Given the description of an element on the screen output the (x, y) to click on. 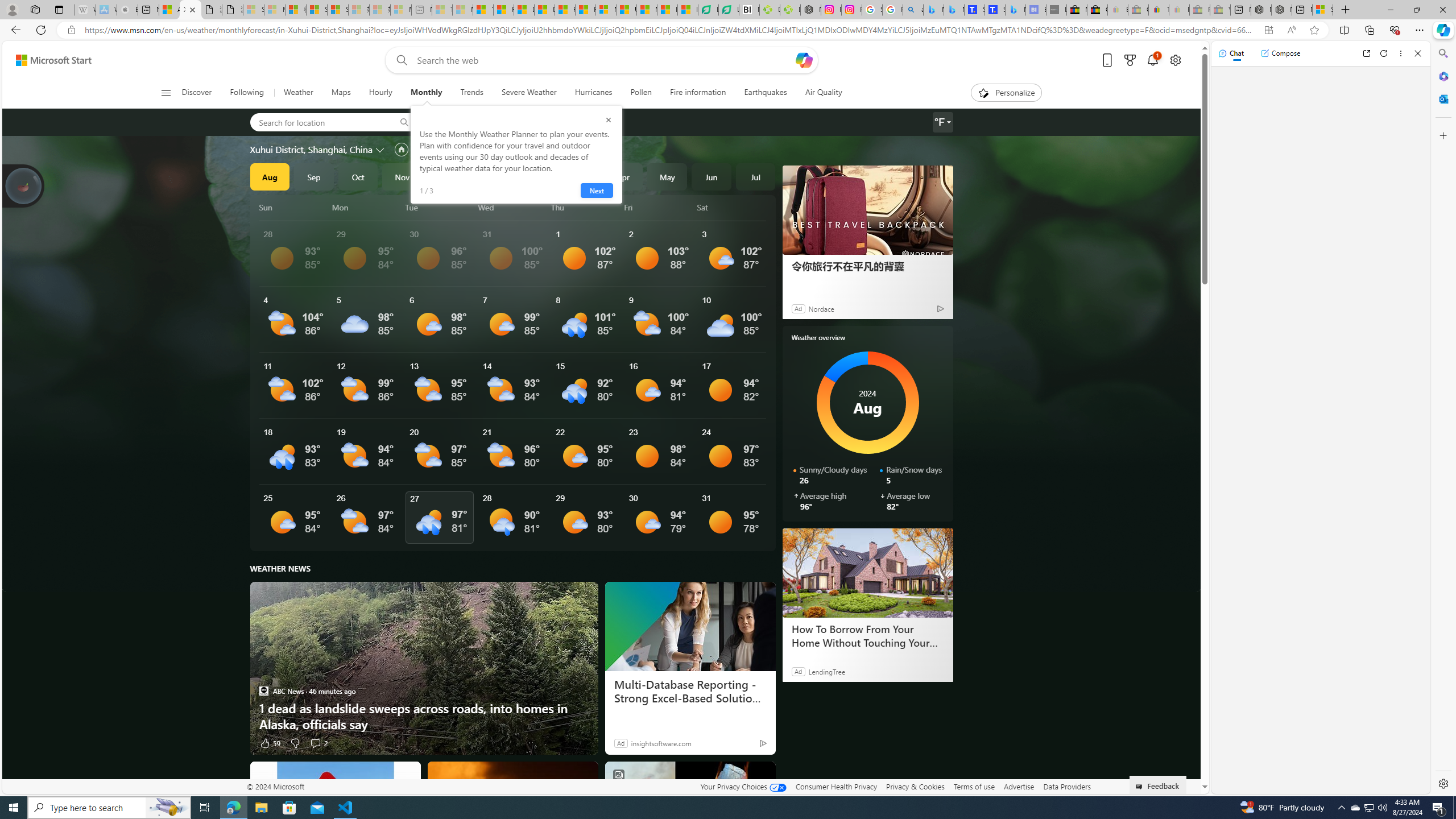
Weather settings (942, 122)
Compose (1280, 52)
LendingTree - Compare Lenders (728, 9)
